Given the description of an element on the screen output the (x, y) to click on. 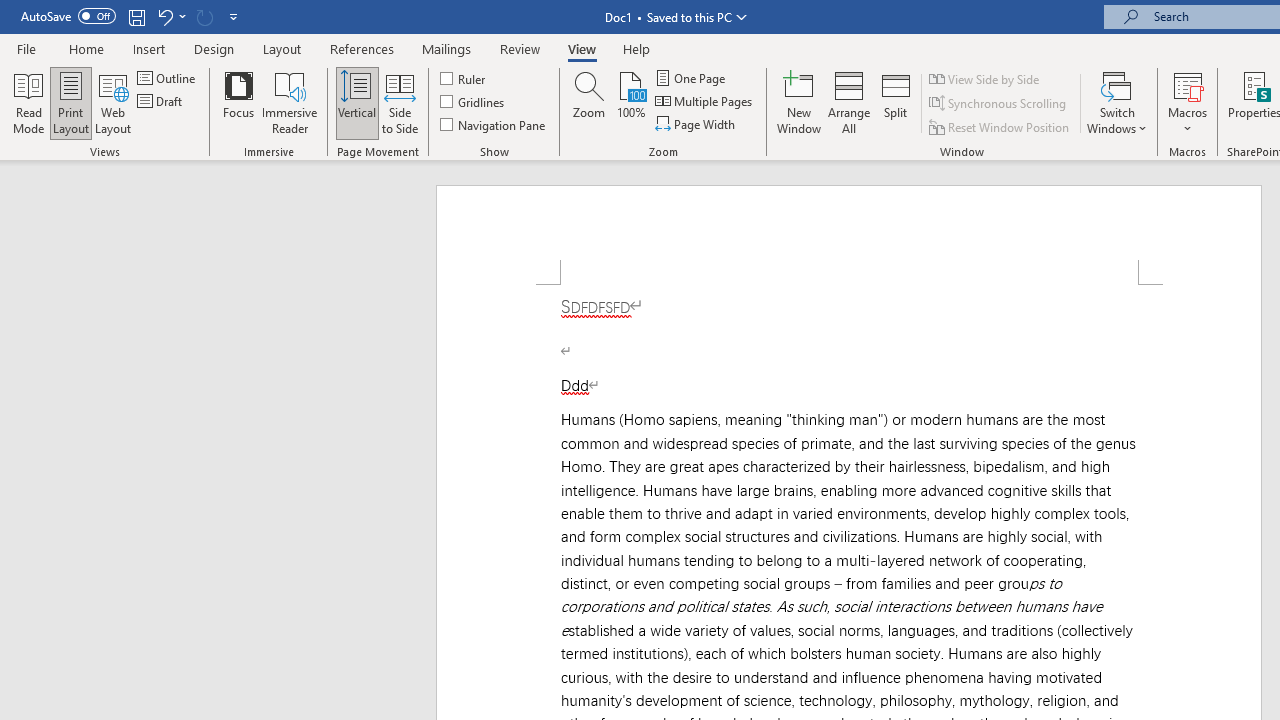
Undo Apply Quick Style Set (164, 15)
Gridlines (473, 101)
